Given the description of an element on the screen output the (x, y) to click on. 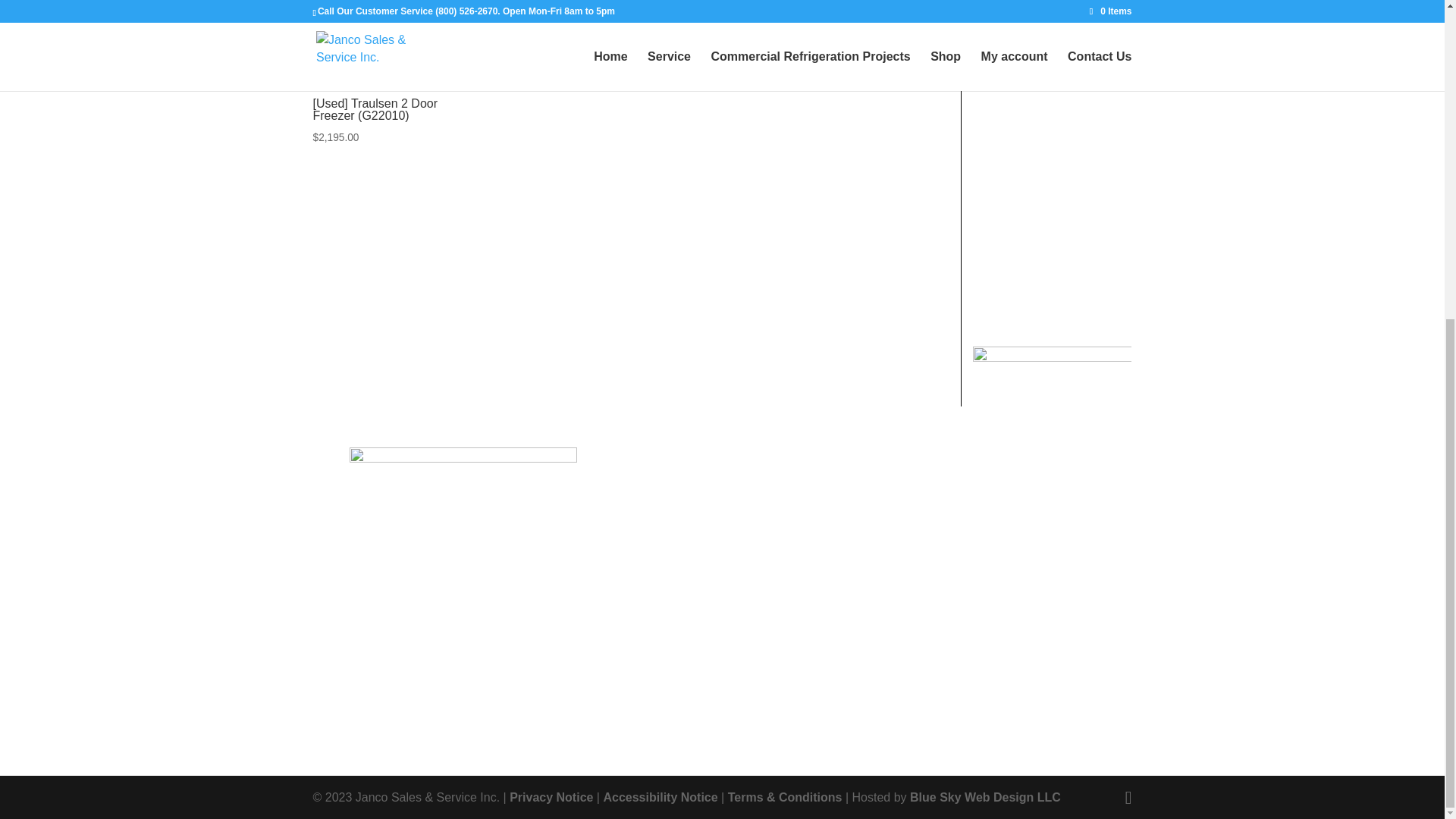
Privacy Notice (550, 797)
Accessibility Notice (659, 797)
Blue Sky Web Design LLC (985, 797)
Accessibility Notice (659, 797)
Privacy Notice (550, 797)
TimePayment (1051, 357)
